Given the description of an element on the screen output the (x, y) to click on. 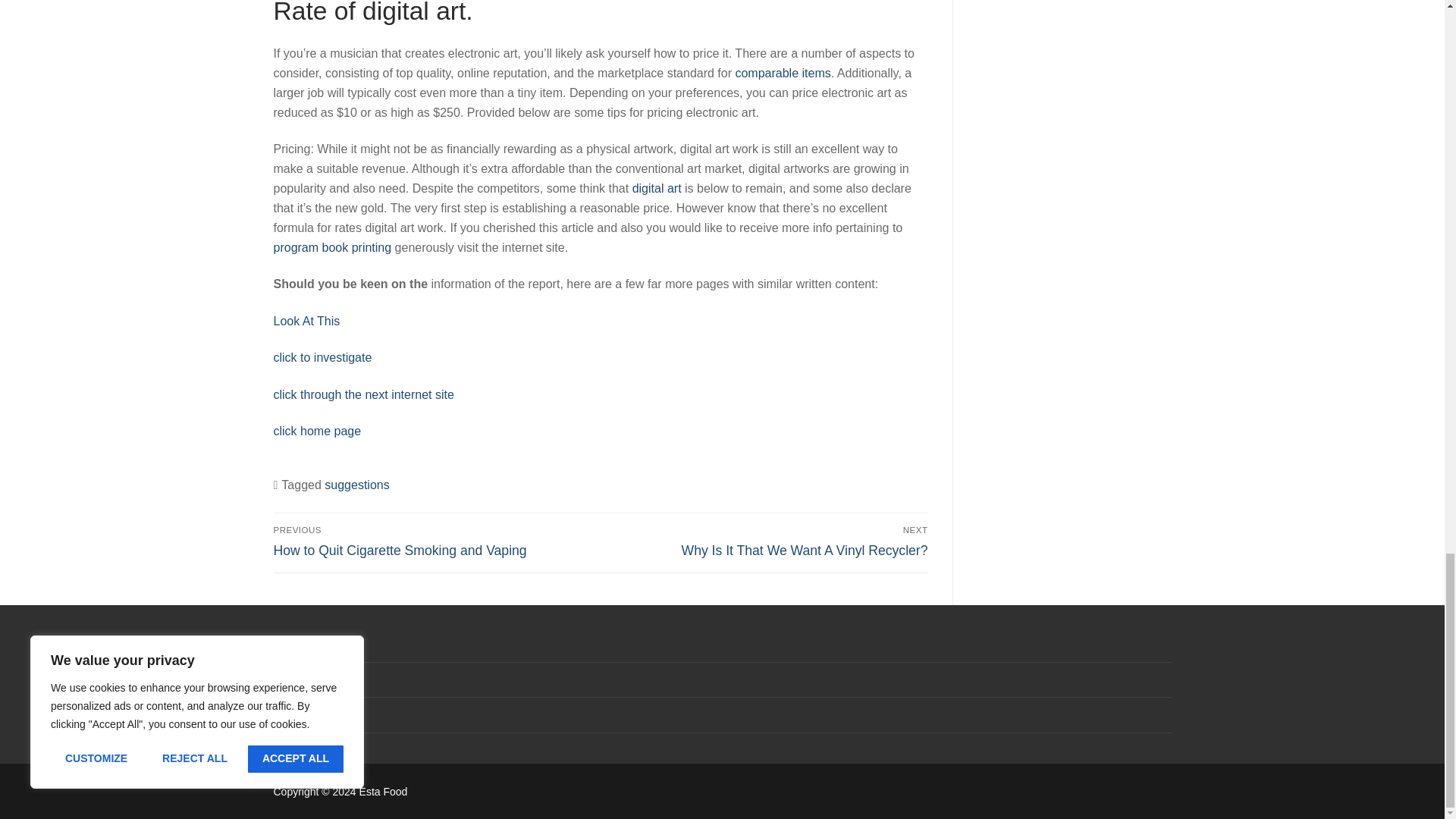
suggestions (767, 541)
digital art (356, 484)
program book printing (656, 187)
comparable items (332, 246)
click through the next internet site (782, 72)
click to investigate (362, 394)
Look At This (322, 357)
click home page (306, 320)
